Given the description of an element on the screen output the (x, y) to click on. 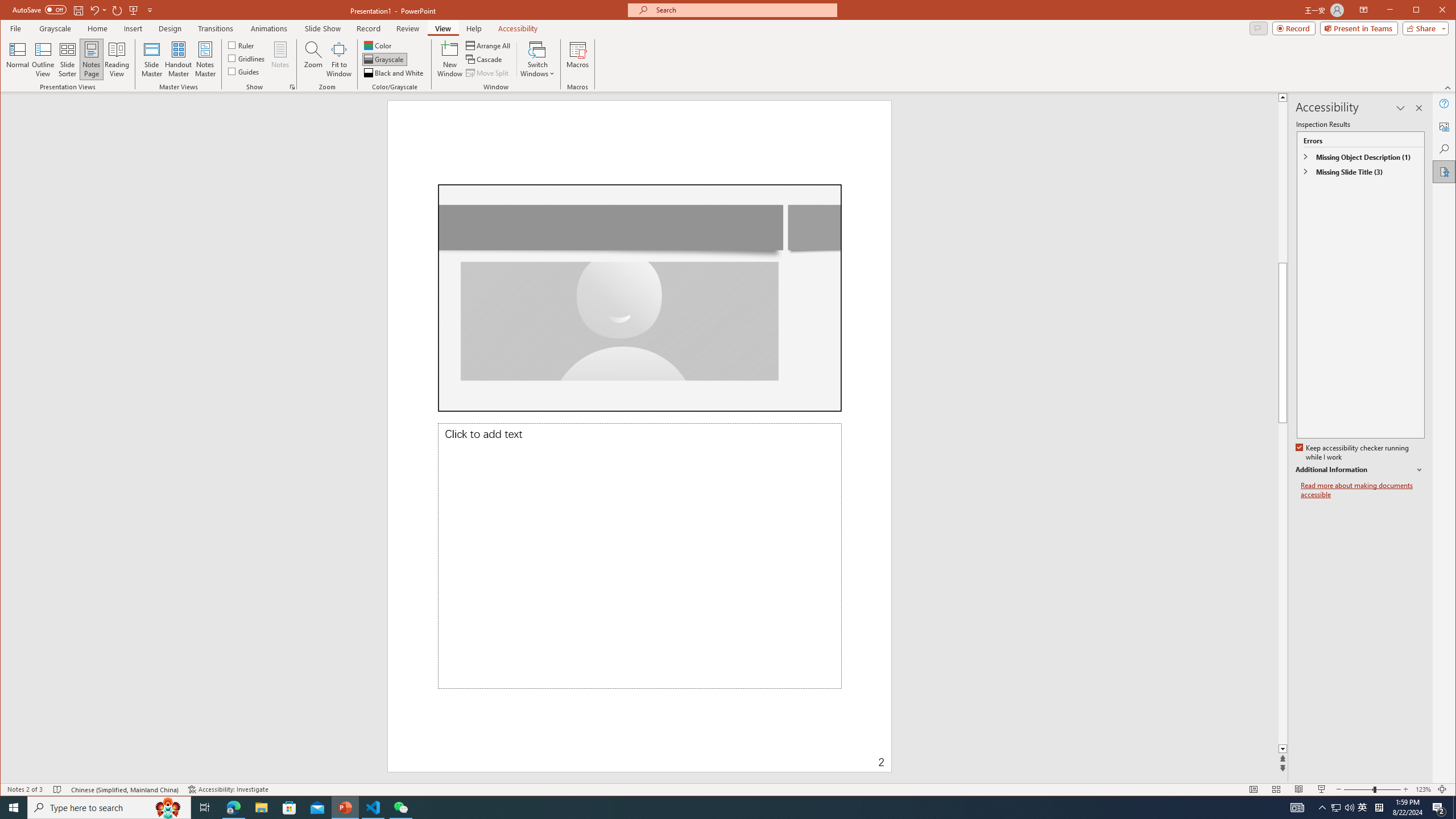
New Window (450, 59)
Line down (1427, 749)
Task View (204, 807)
Switch Windows (537, 59)
Grid Settings... (292, 86)
Outline View (42, 59)
Move Split (488, 72)
Grayscale (55, 28)
Guides (243, 70)
